Given the description of an element on the screen output the (x, y) to click on. 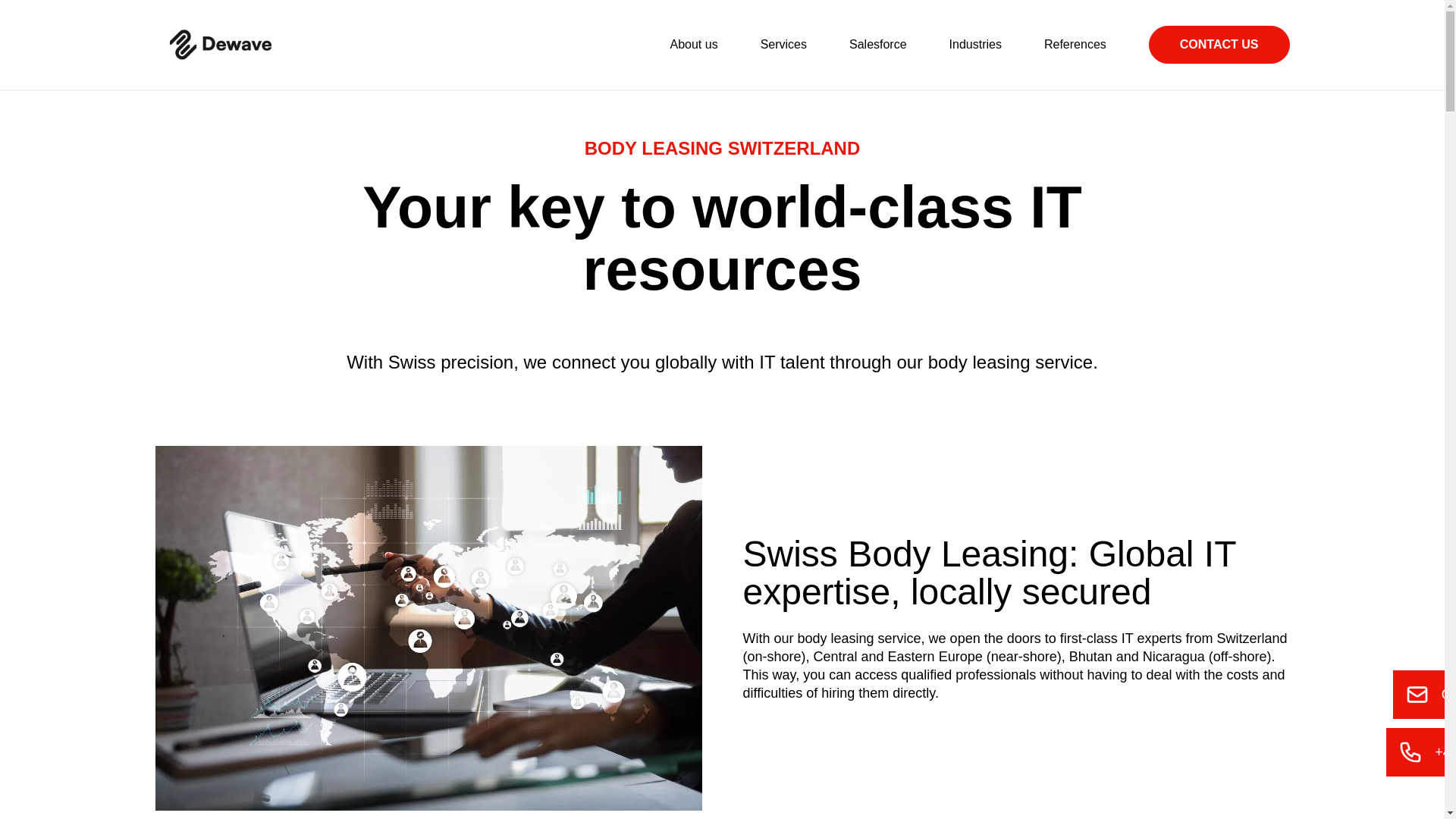
Salesforce (877, 45)
References (1074, 45)
References (1074, 45)
Industries (975, 45)
Services (783, 45)
Contact Dewave (1219, 44)
Salesforce Services (877, 45)
Industries (975, 45)
CONTACT US (1219, 44)
About Dewave (693, 45)
